Given the description of an element on the screen output the (x, y) to click on. 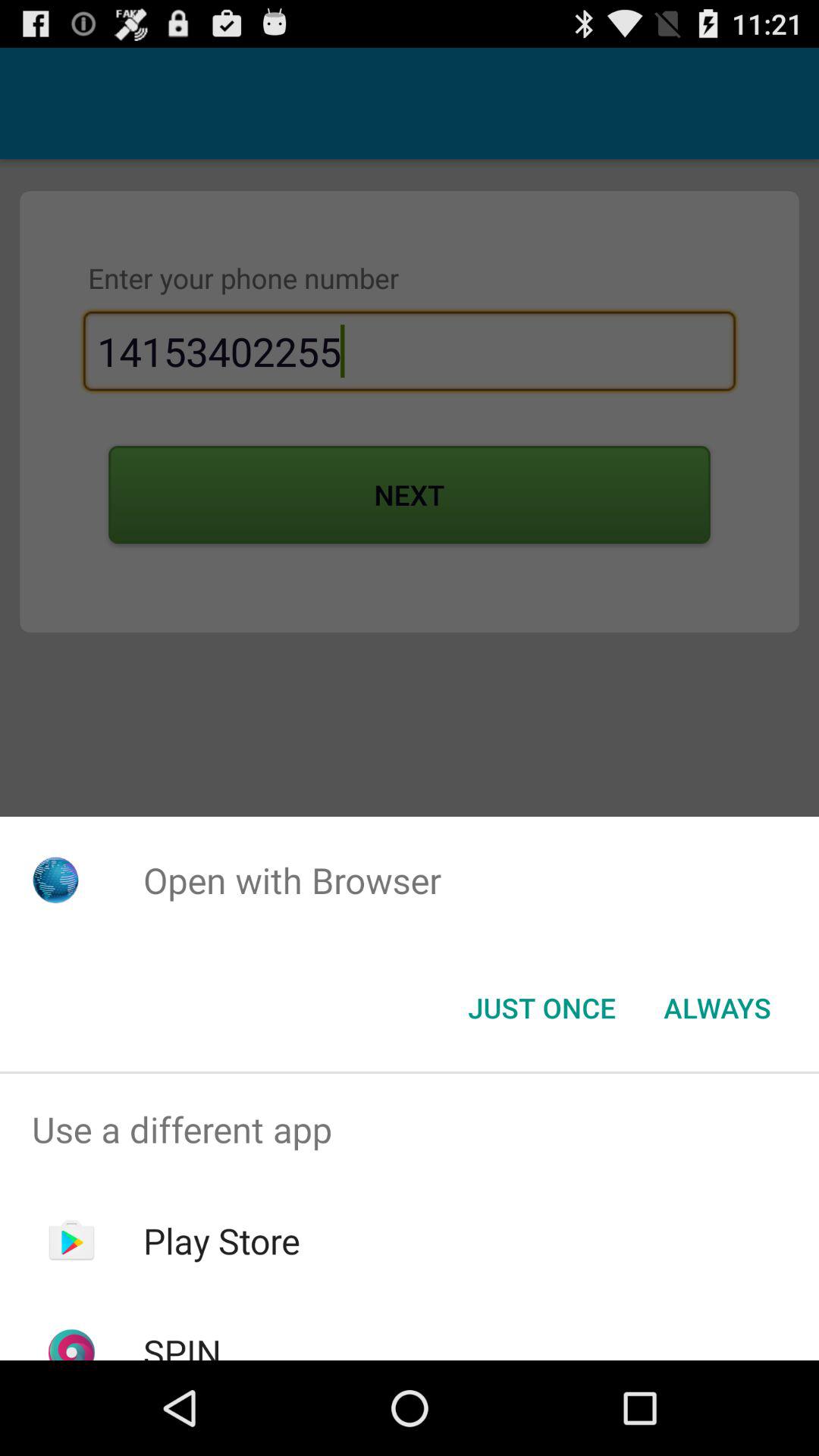
swipe until always button (717, 1007)
